Given the description of an element on the screen output the (x, y) to click on. 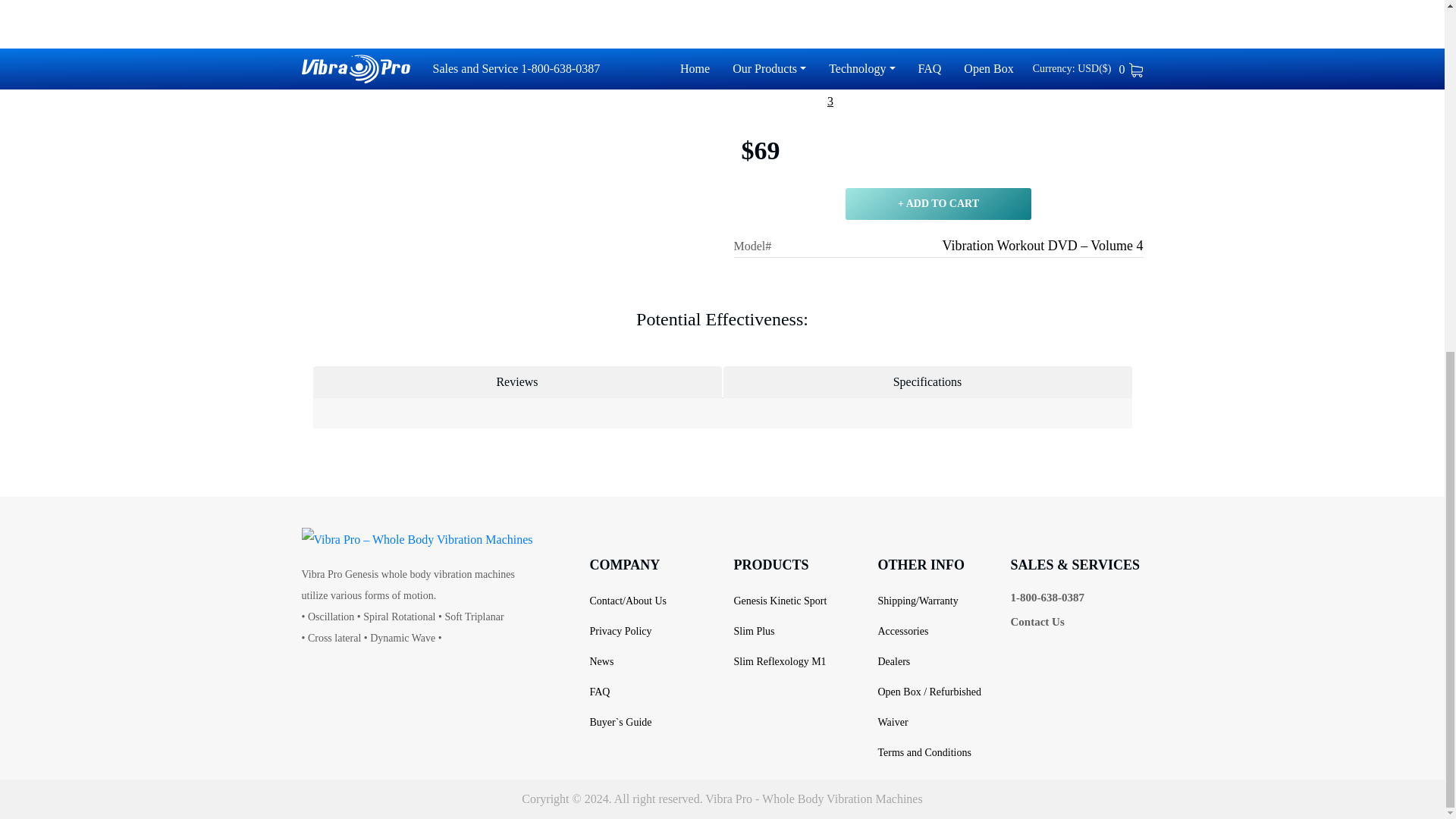
Genesis Kinetic Sport (780, 600)
Privacy Policy (619, 631)
News (600, 661)
Reviews (516, 382)
Slim Plus (753, 631)
FAQ (599, 691)
Slim Reflexology M1 (779, 661)
Body Composition Scale (1045, 48)
Dealers (893, 661)
Specifications (927, 382)
